Given the description of an element on the screen output the (x, y) to click on. 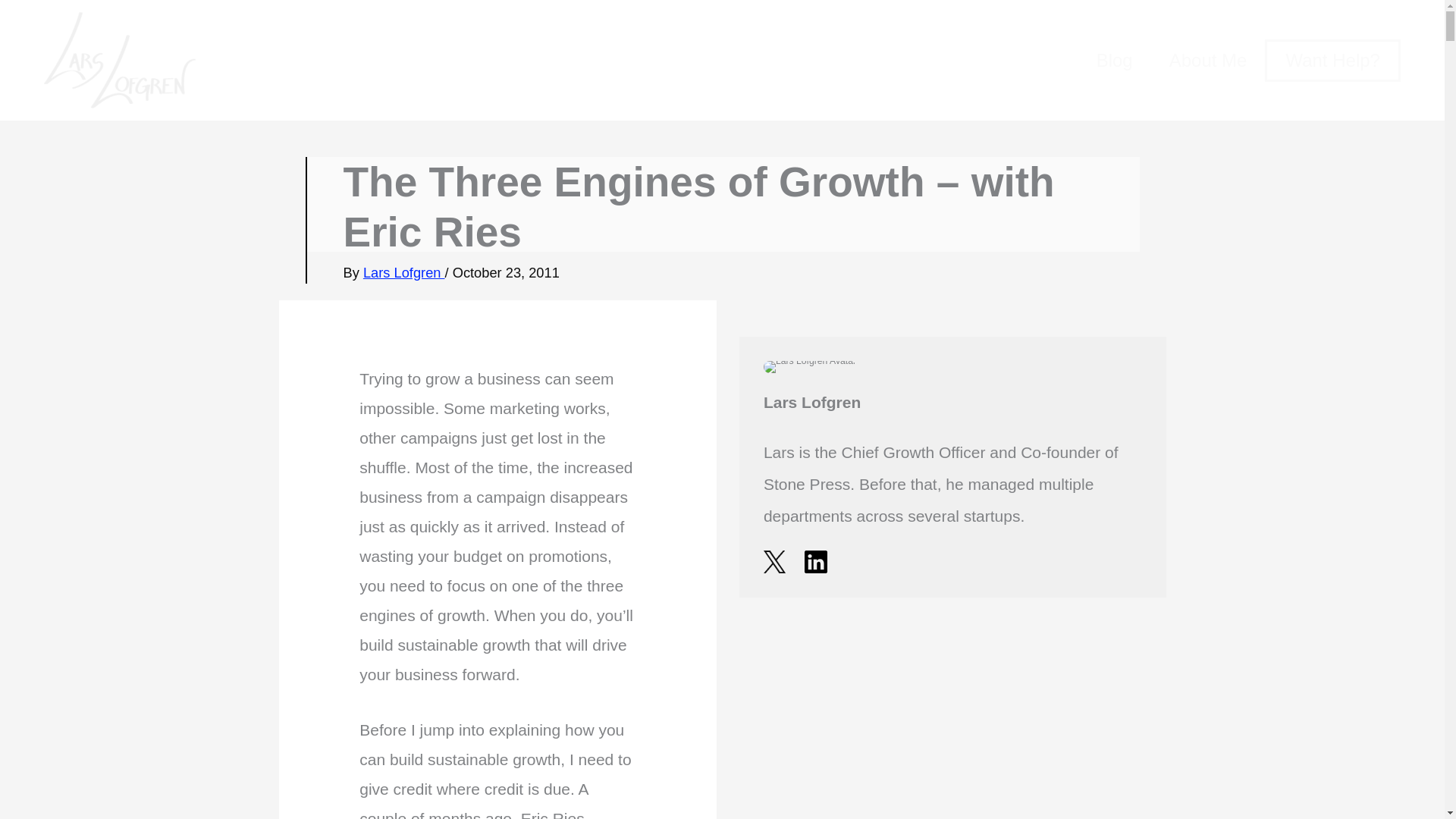
View all posts by Lars Lofgren (403, 272)
Lars Lofgren (403, 272)
Blog (1114, 60)
About Me (1208, 60)
Want Help? (1332, 60)
